Given the description of an element on the screen output the (x, y) to click on. 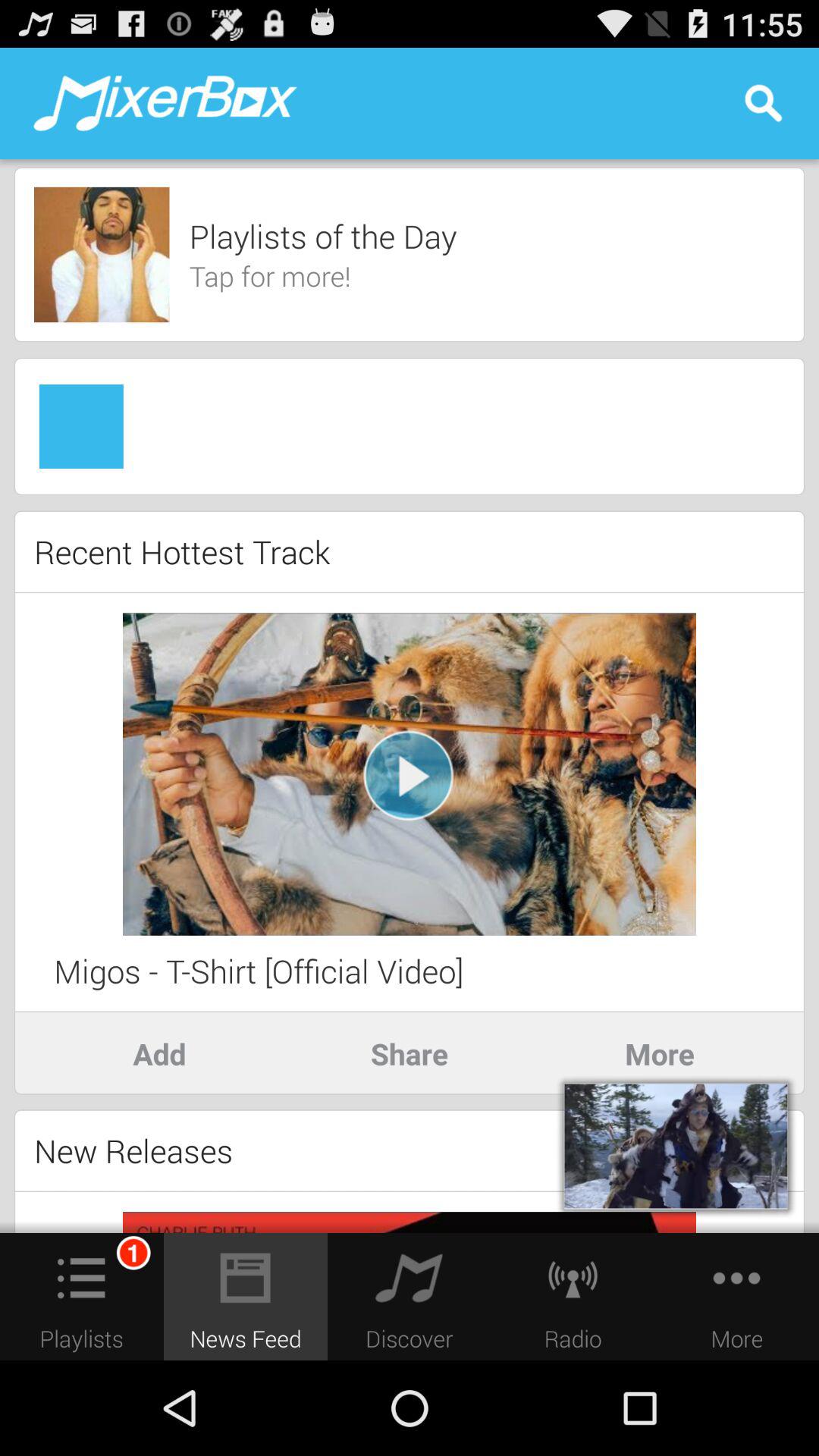
open the icon next to more app (409, 1053)
